Given the description of an element on the screen output the (x, y) to click on. 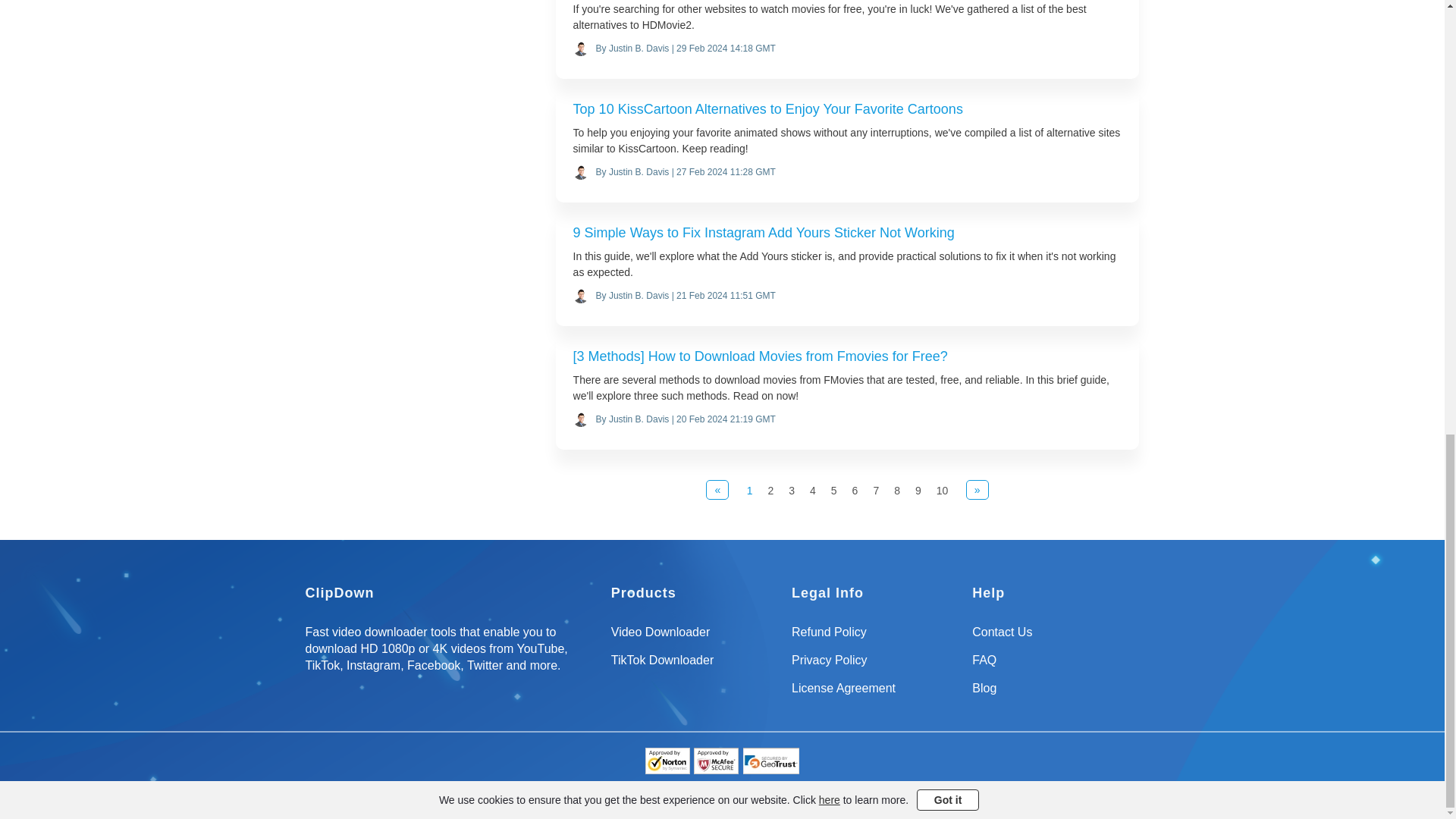
Video Downloader (694, 637)
Privacy Policy (875, 665)
License Agreement (875, 694)
TikTok Downloader (694, 665)
Contact Us (1055, 637)
Refund Policy (875, 637)
FAQ (1055, 665)
10 (942, 490)
Blog (1055, 694)
